Given the description of an element on the screen output the (x, y) to click on. 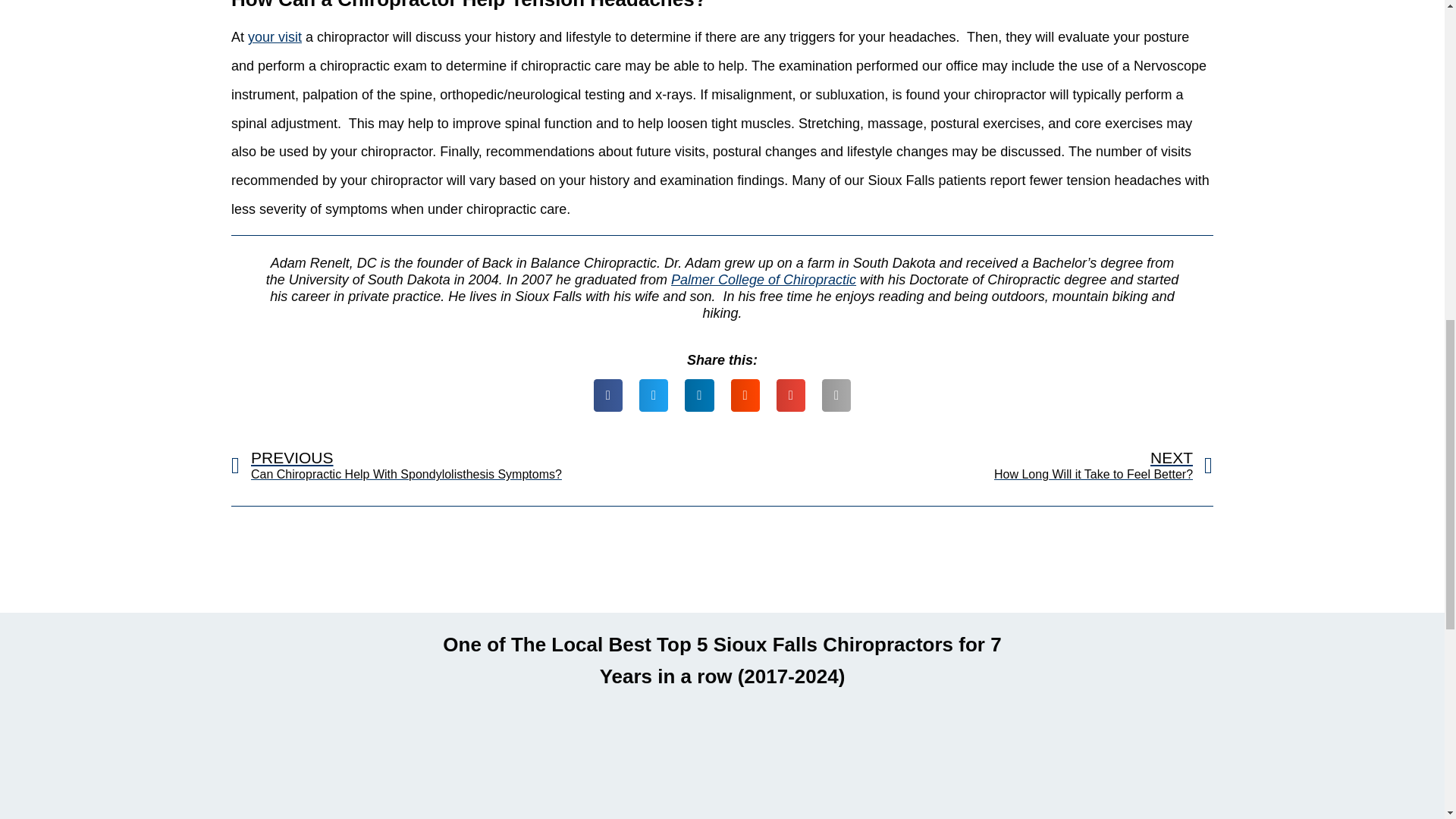
Palmer College of Chiropractic (763, 279)
your visit (274, 37)
